Given the description of an element on the screen output the (x, y) to click on. 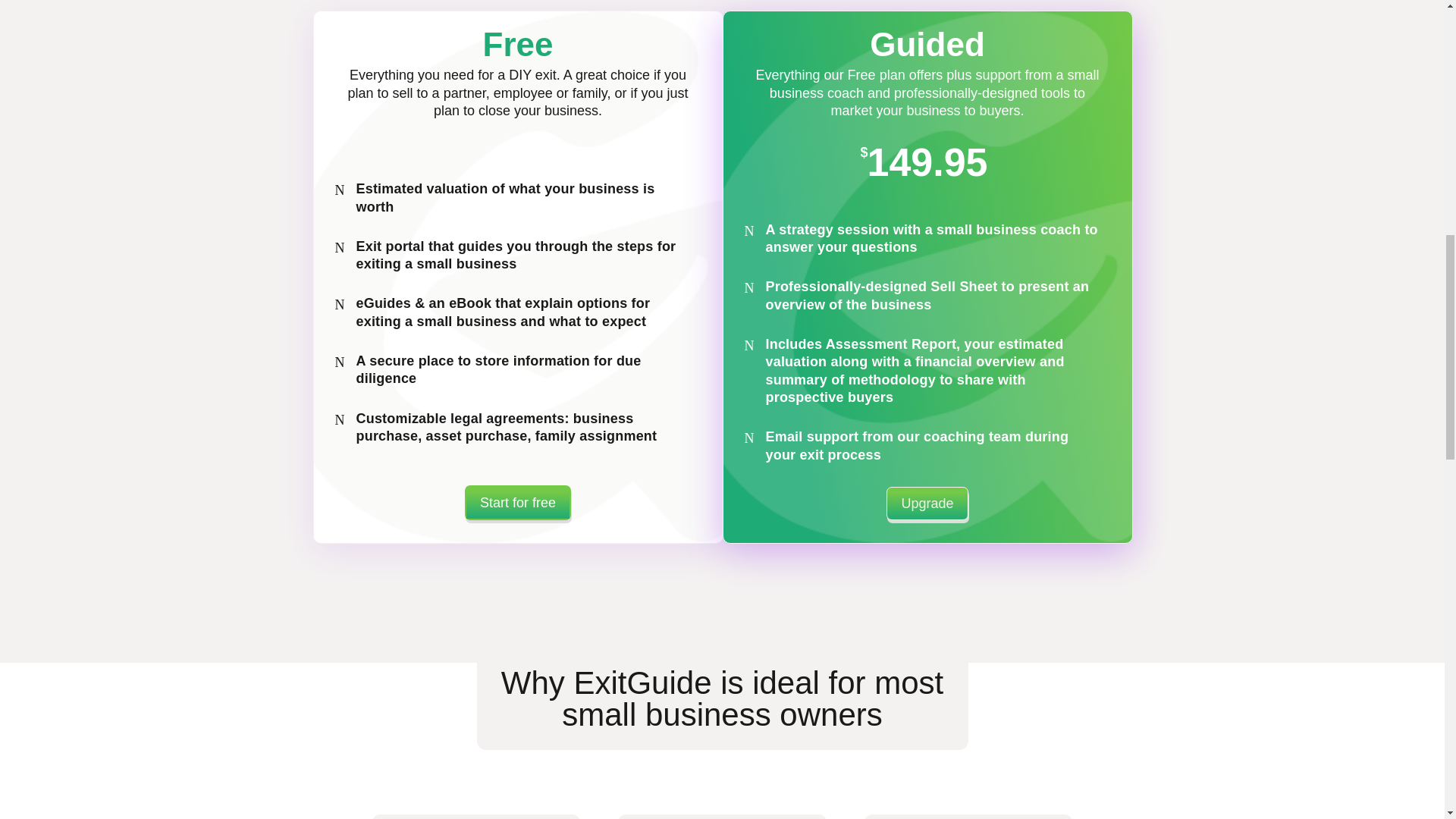
Start for free (517, 502)
Upgrade (927, 502)
